Given the description of an element on the screen output the (x, y) to click on. 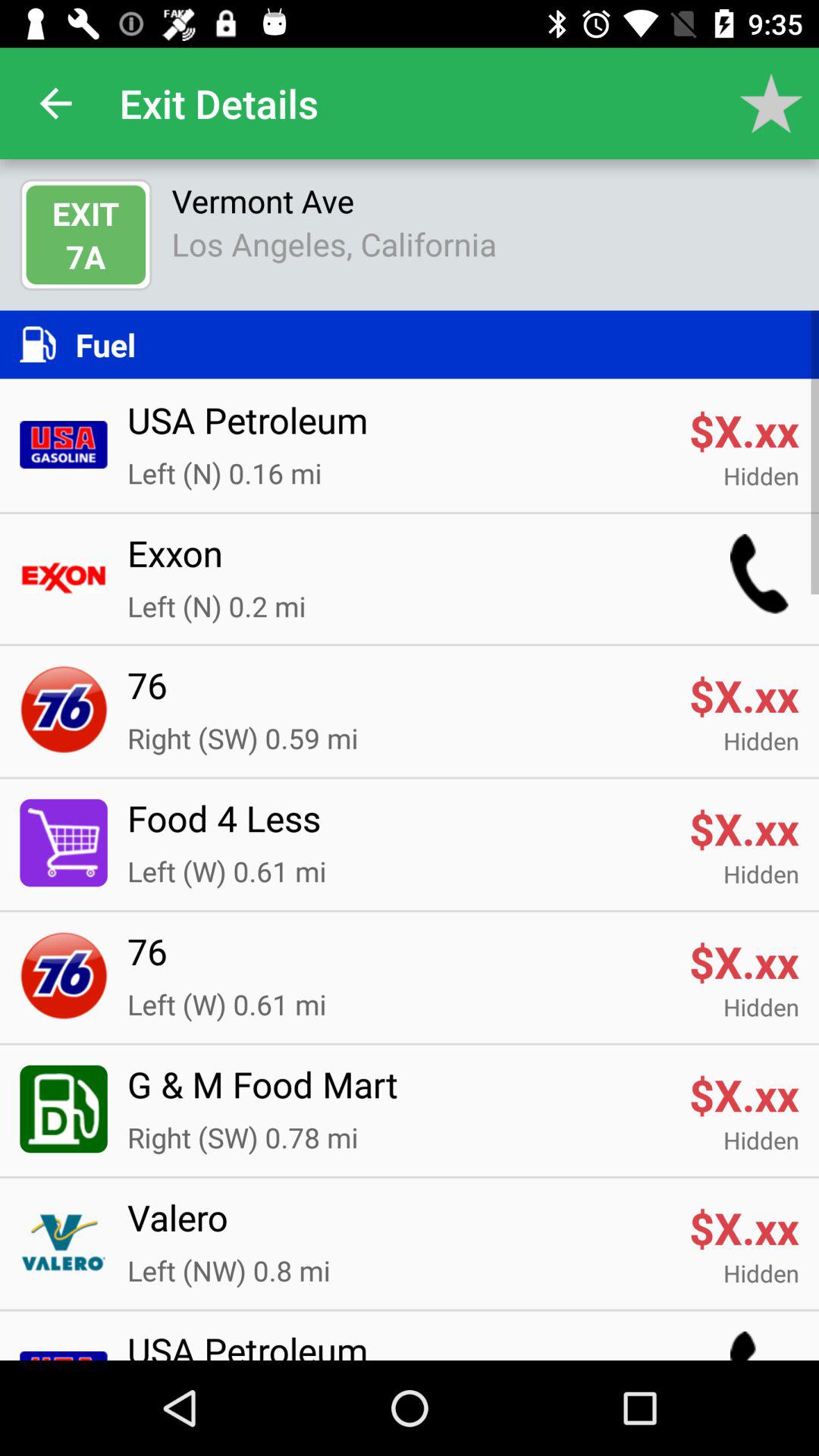
open app next to exit details icon (55, 103)
